Given the description of an element on the screen output the (x, y) to click on. 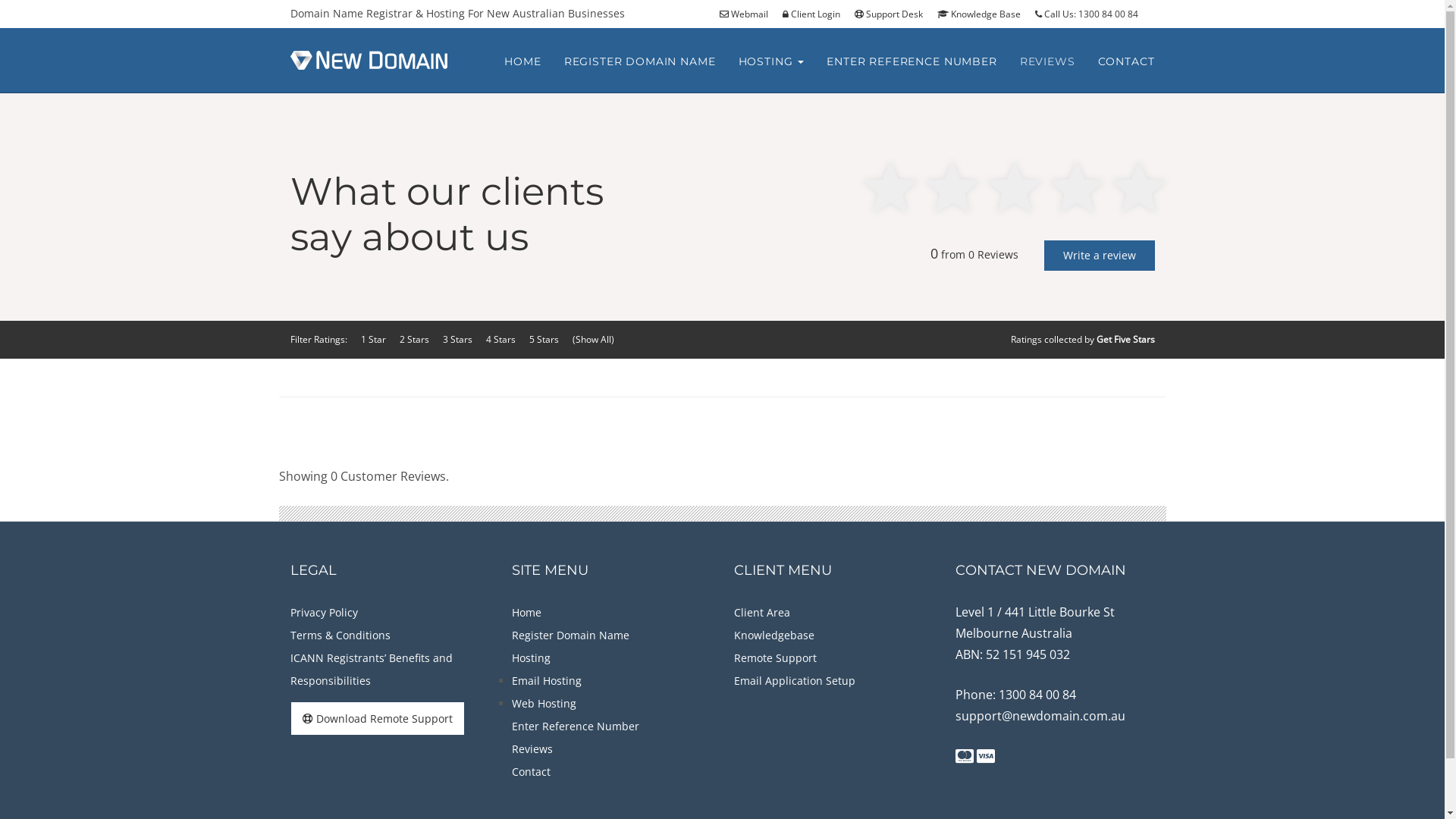
Knowledge Base Element type: text (984, 13)
4 Stars Element type: text (499, 338)
Call Us: 1300 84 00 84 Element type: text (1091, 13)
CONTACT Element type: text (1126, 61)
Register Domain Name Element type: text (570, 634)
ENTER REFERENCE NUMBER Element type: text (911, 61)
Get Five Stars Element type: text (1125, 338)
REVIEWS Element type: text (1047, 61)
HOME Element type: text (522, 61)
Client Area Element type: text (762, 612)
Privacy Policy Element type: text (323, 612)
1 Star Element type: text (372, 338)
Enter Reference Number Element type: text (575, 725)
Email Application Setup Element type: text (794, 680)
Knowledgebase Element type: text (774, 634)
(Show All) Element type: text (592, 338)
Download Remote Support Element type: text (376, 718)
Email Hosting Element type: text (546, 680)
Terms & Conditions Element type: text (339, 634)
Web Hosting Element type: text (543, 703)
Reviews Element type: text (531, 748)
HOSTING Element type: text (770, 61)
Write a review Element type: text (1098, 255)
REGISTER DOMAIN NAME Element type: text (639, 61)
2 Stars Element type: text (413, 338)
Webmail Element type: text (748, 13)
Client Login Element type: text (816, 13)
Hosting Element type: text (530, 657)
Contact Element type: text (530, 771)
Remote Support Element type: text (775, 657)
Home Element type: text (526, 612)
Support Desk Element type: text (893, 13)
5 Stars Element type: text (543, 338)
3 Stars Element type: text (457, 338)
